Given the description of an element on the screen output the (x, y) to click on. 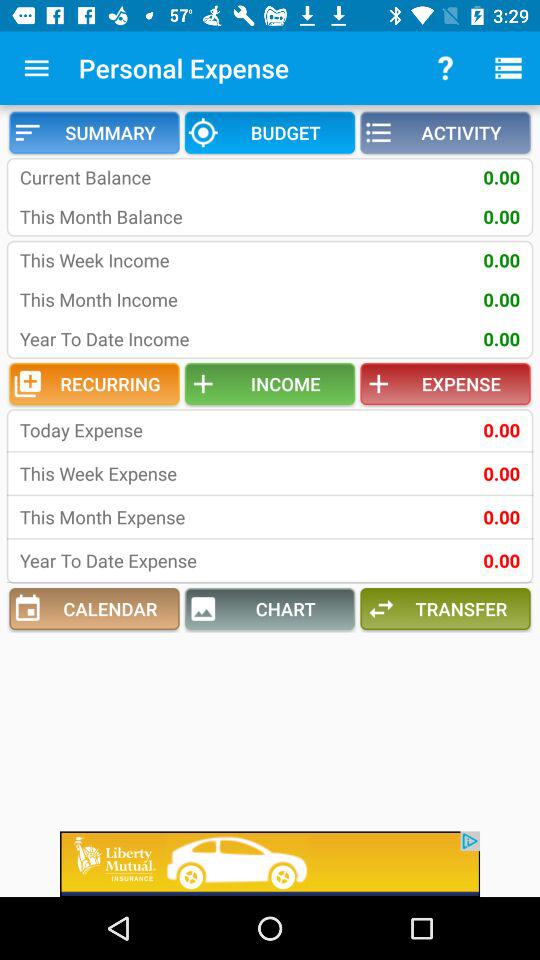
press the item to the left of the chart (94, 609)
